Given the description of an element on the screen output the (x, y) to click on. 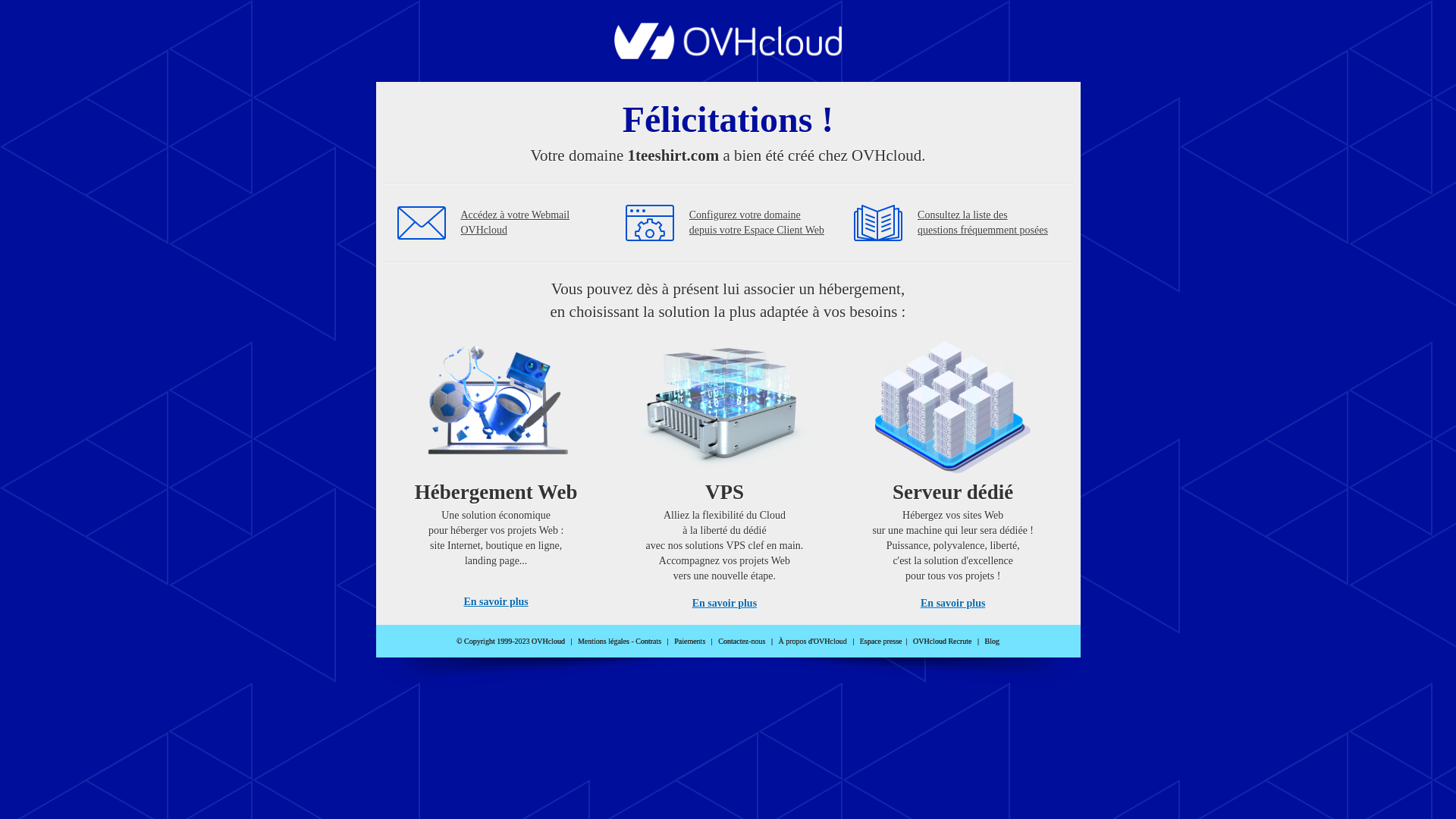
En savoir plus Element type: text (952, 602)
Paiements Element type: text (689, 641)
OVHcloud Recrute Element type: text (942, 641)
OVHcloud Element type: hover (727, 54)
Contactez-nous Element type: text (741, 641)
En savoir plus Element type: text (724, 602)
Espace presse Element type: text (880, 641)
Blog Element type: text (992, 641)
En savoir plus Element type: text (495, 601)
VPS Element type: hover (724, 469)
Configurez votre domaine
depuis votre Espace Client Web Element type: text (756, 222)
